Given the description of an element on the screen output the (x, y) to click on. 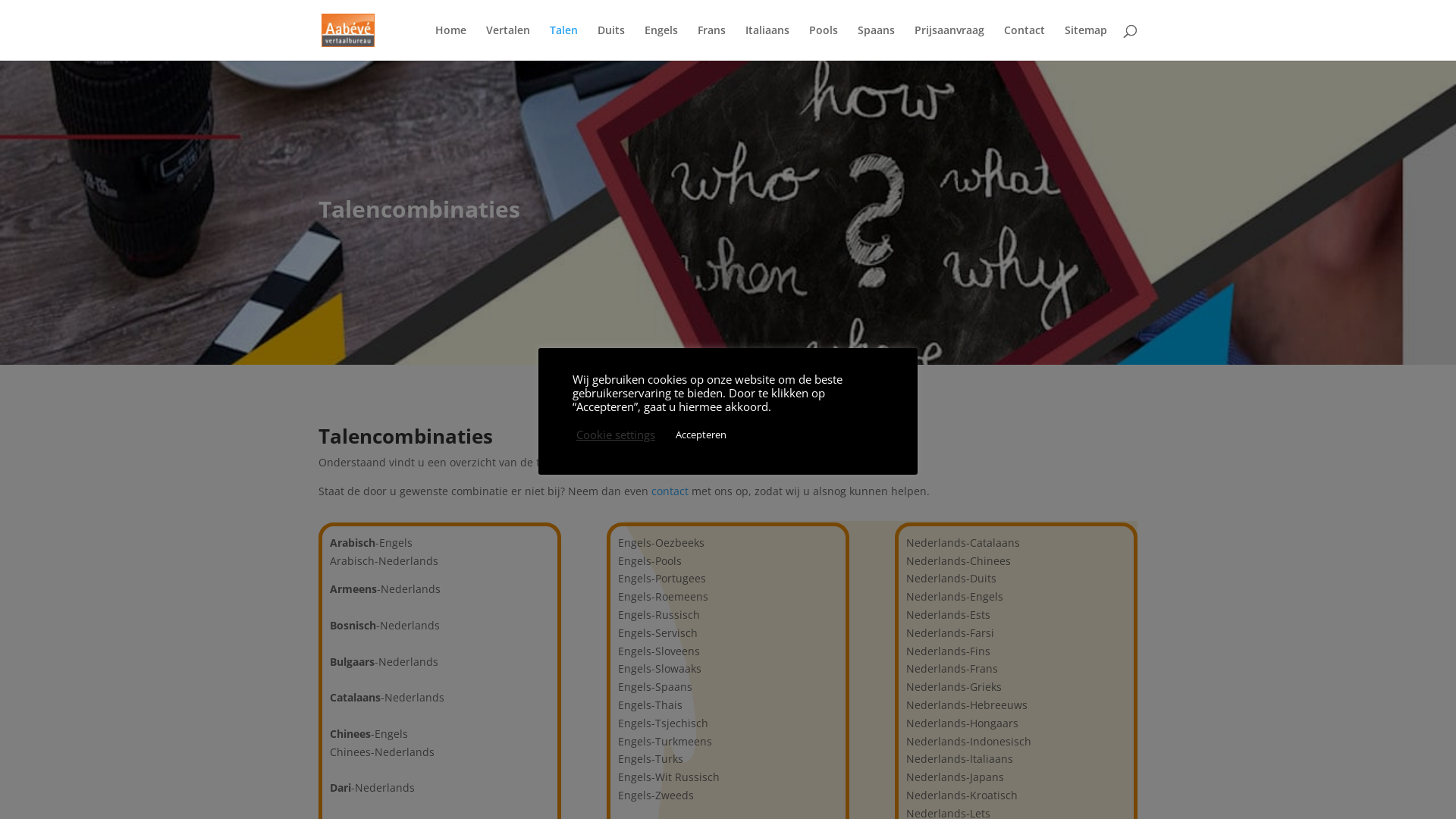
Prijsaanvraag Element type: text (949, 42)
Sitemap Element type: text (1085, 42)
Frans Element type: text (711, 42)
Engels Element type: text (660, 42)
Spaans Element type: text (875, 42)
Cookie settings Element type: text (615, 434)
Accepteren Element type: text (700, 434)
contact Element type: text (669, 490)
Talen Element type: text (563, 42)
Italiaans Element type: text (767, 42)
Contact Element type: text (1024, 42)
Pools Element type: text (823, 42)
Vertalen Element type: text (508, 42)
Duits Element type: text (610, 42)
Home Element type: text (450, 42)
